Given the description of an element on the screen output the (x, y) to click on. 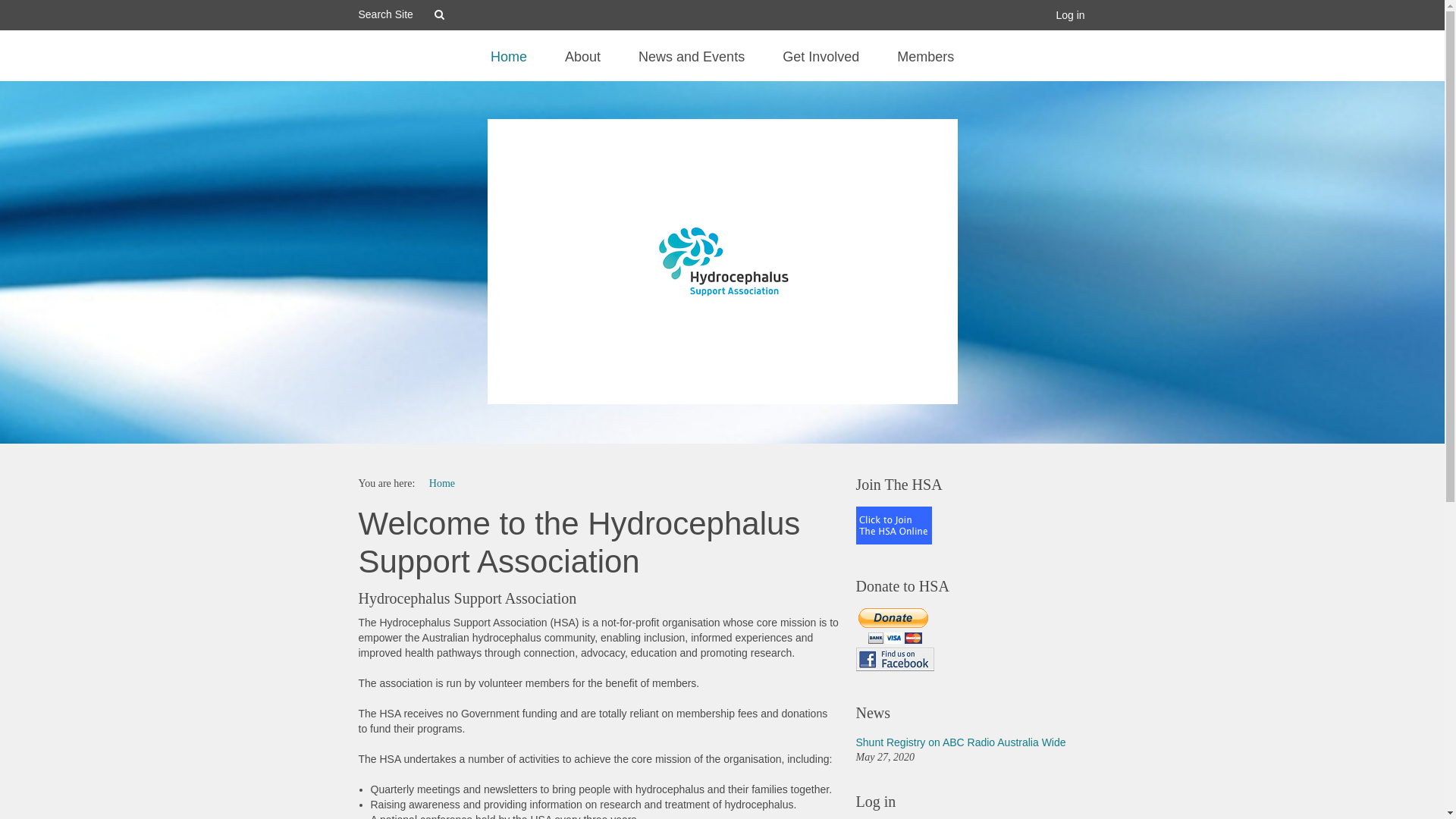
ClickToJoinHSA Element type: hover (893, 525)
Get Involved Element type: text (820, 65)
find us on facebooksm Element type: hover (894, 659)
Home Element type: text (442, 483)
Search Site Element type: hover (395, 13)
Shunt Registry on ABC Radio Australia Wide Element type: text (960, 742)
Search Element type: text (440, 15)
Log in Element type: text (970, 801)
News and Events Element type: text (691, 65)
About Element type: text (582, 65)
Home Element type: text (508, 65)
Members Element type: text (925, 65)
Log in Element type: text (1069, 14)
